Given the description of an element on the screen output the (x, y) to click on. 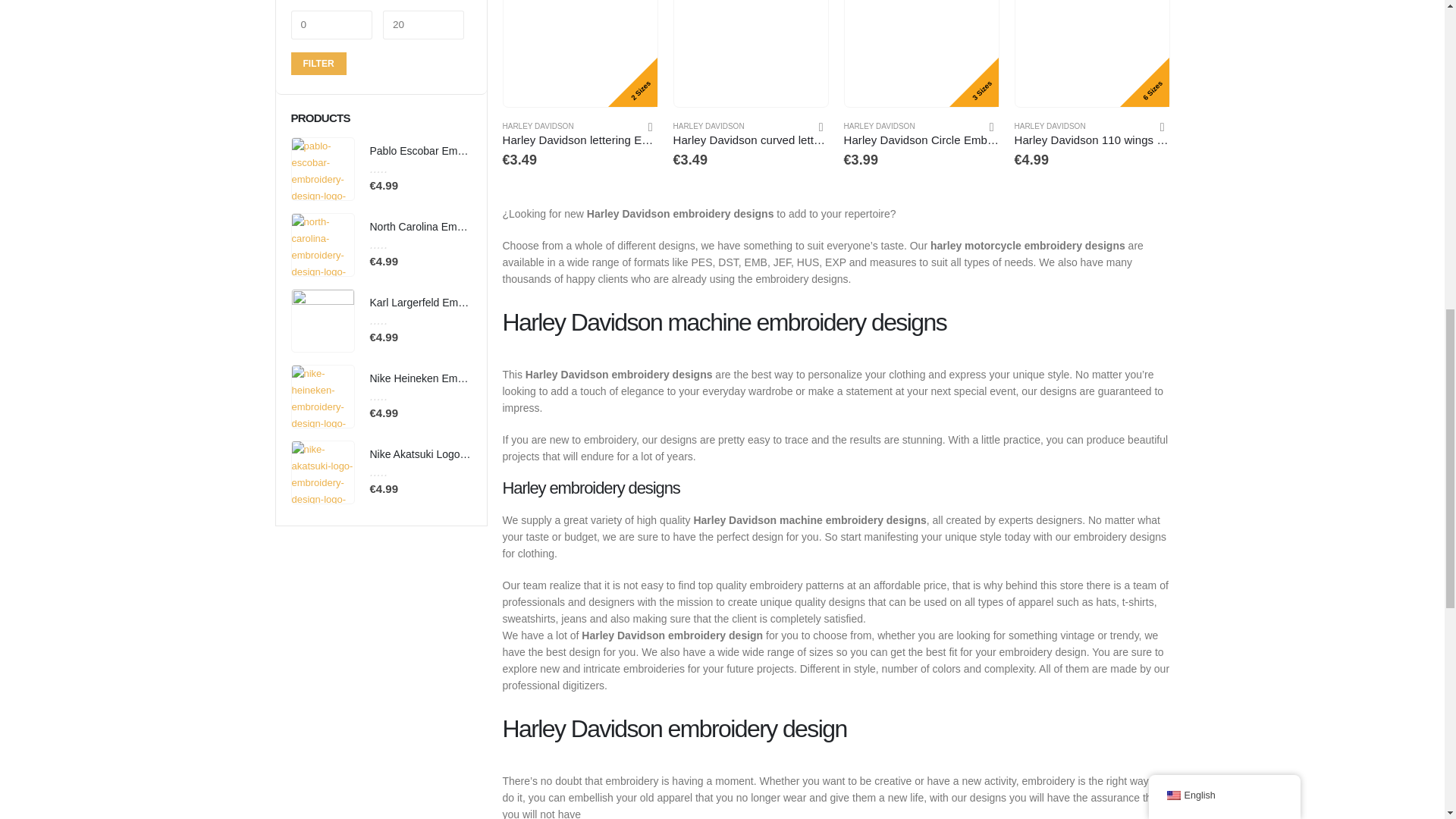
0 (331, 24)
20 (423, 24)
